Given the description of an element on the screen output the (x, y) to click on. 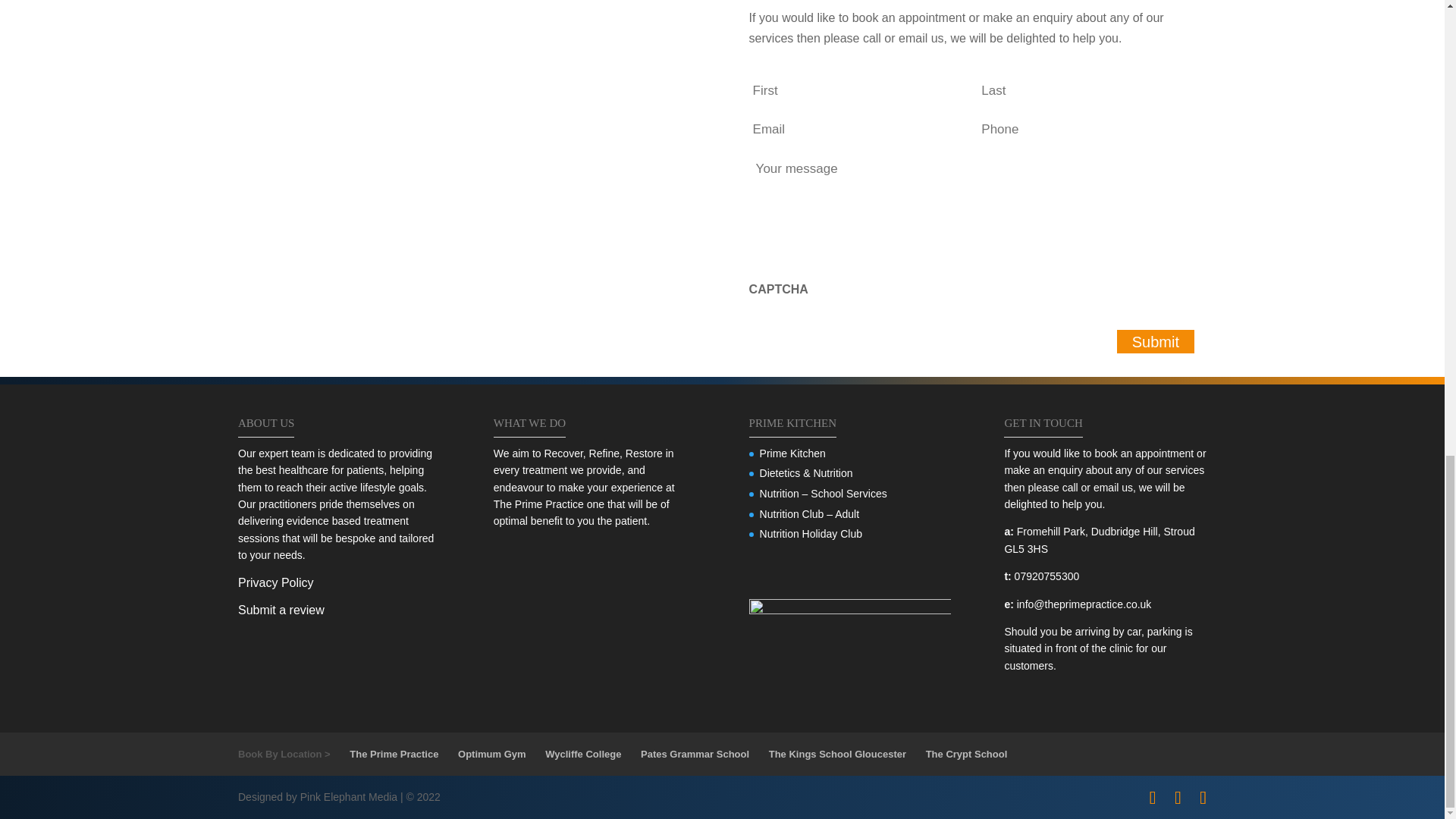
Submit (1154, 341)
